Given the description of an element on the screen output the (x, y) to click on. 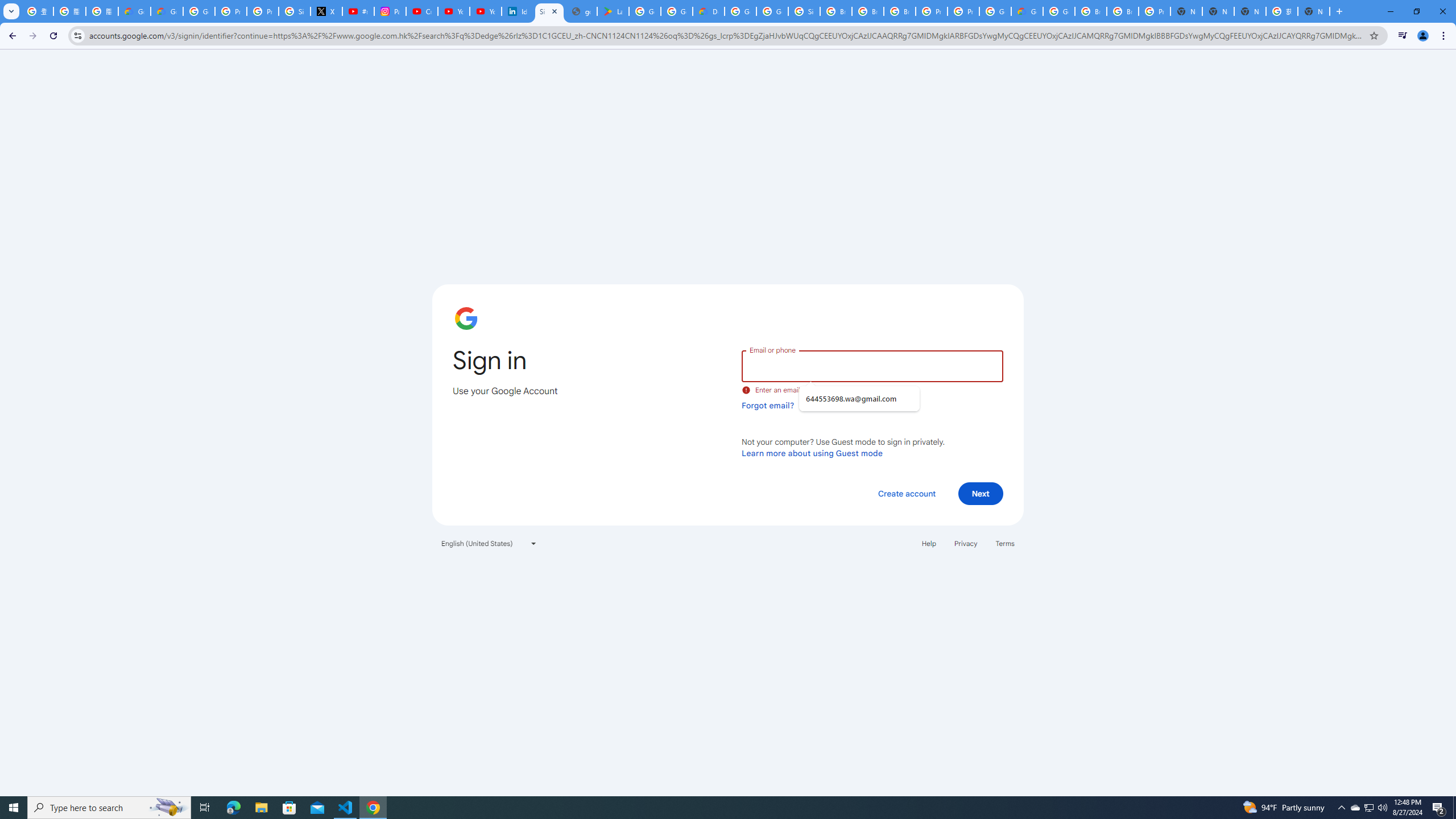
New Tab (1185, 11)
#nbabasketballhighlights - YouTube (358, 11)
Identity verification via Persona | LinkedIn Help (517, 11)
